Given the description of an element on the screen output the (x, y) to click on. 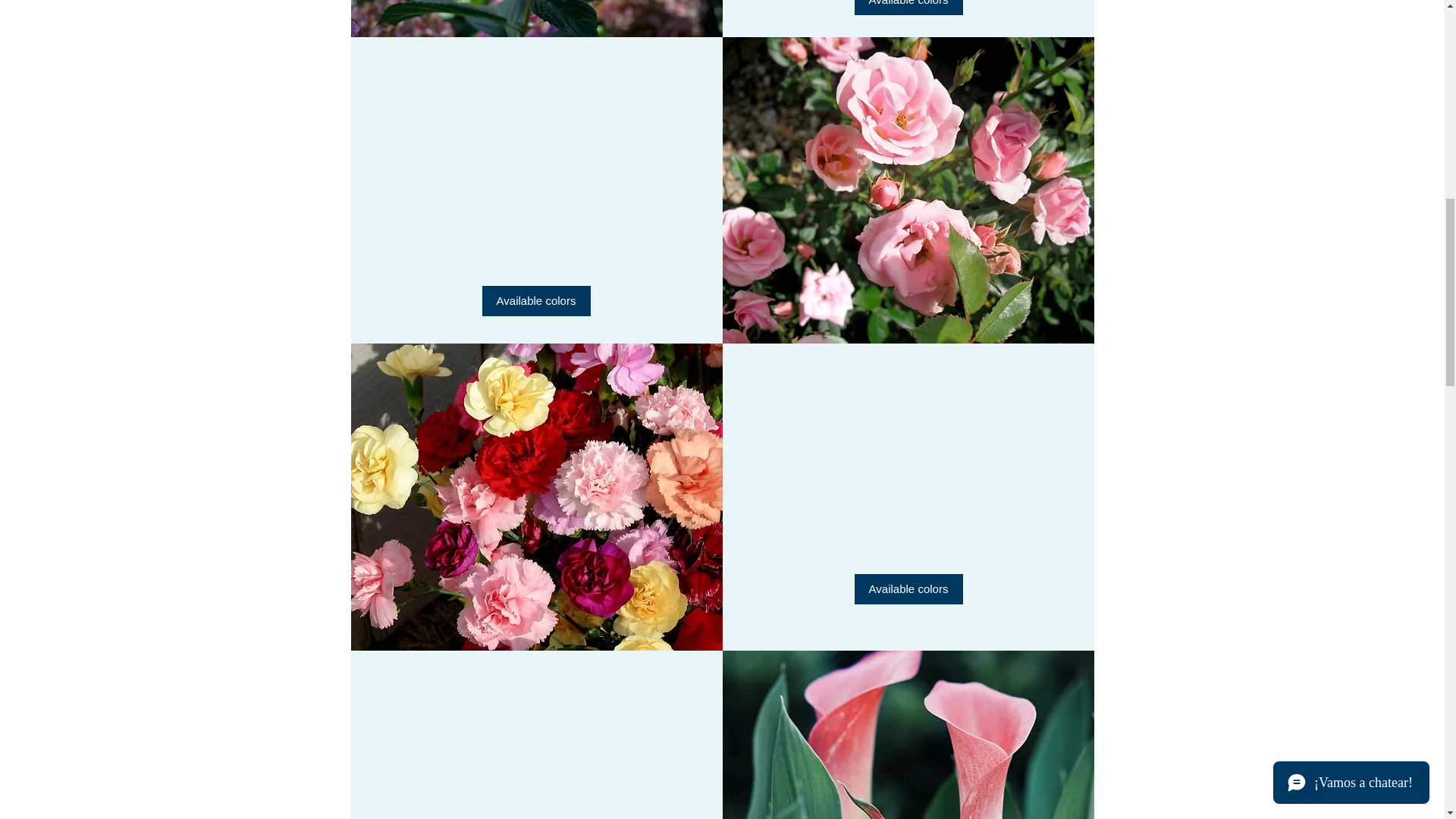
Available colors (536, 300)
Available colors (907, 7)
Available colors (907, 589)
